Given the description of an element on the screen output the (x, y) to click on. 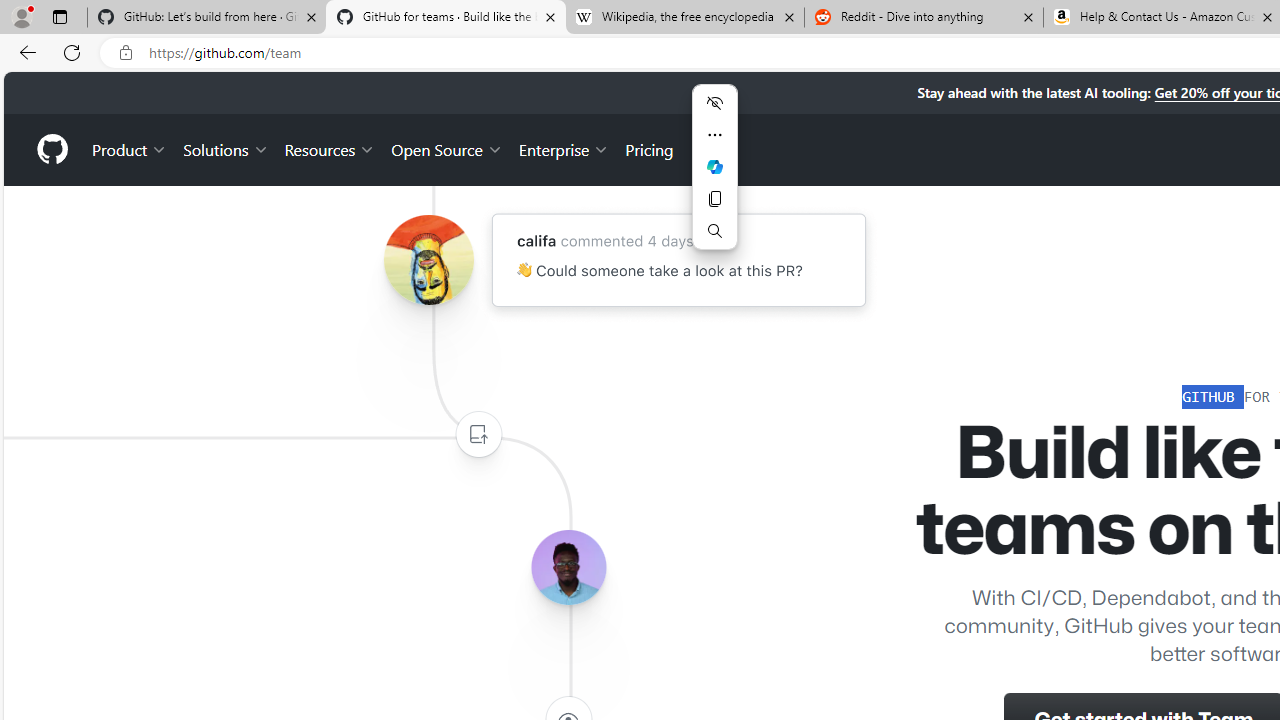
Homepage (51, 149)
Class: color-fg-muted width-full (478, 434)
Resources (330, 148)
Ask Copilot (714, 166)
Pricing (649, 148)
Mini menu on text selection (714, 178)
Mini menu on text selection (714, 166)
Avatar of the user califa (428, 260)
Resources (330, 148)
